Given the description of an element on the screen output the (x, y) to click on. 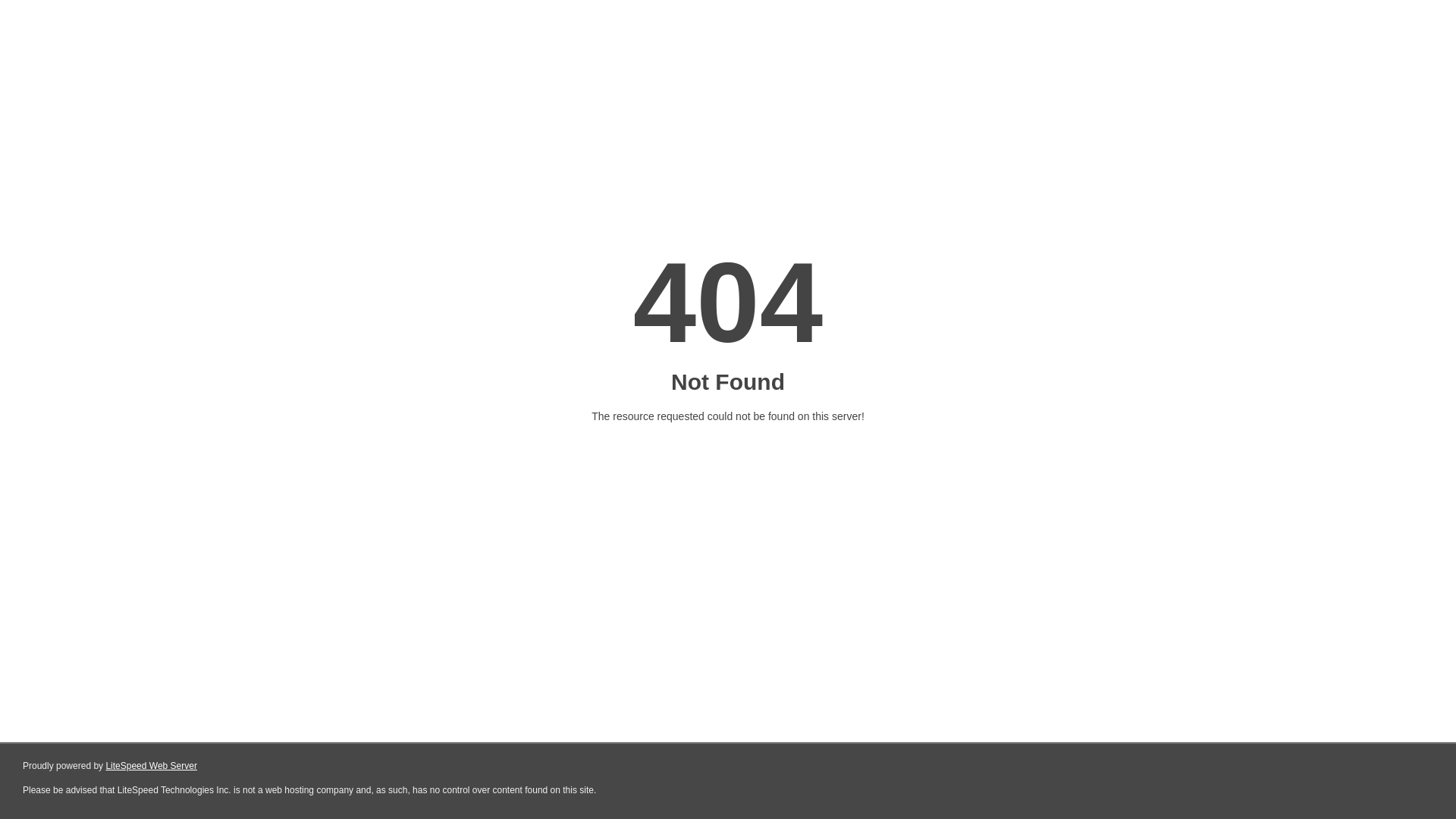
LiteSpeed Web Server Element type: text (151, 765)
